Given the description of an element on the screen output the (x, y) to click on. 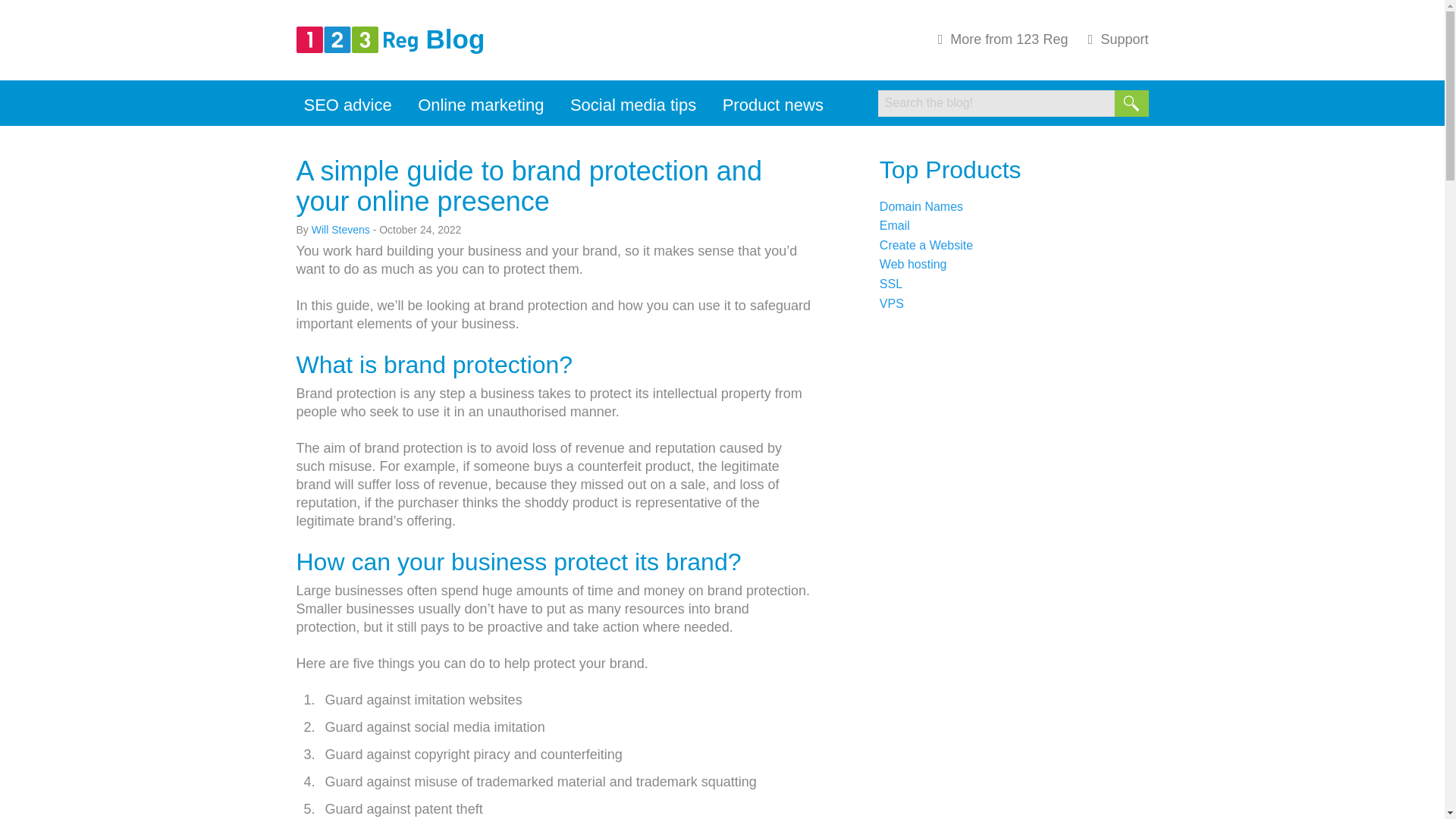
SEO advice (346, 104)
Logo image for 123 Reg (355, 39)
Guard against social media imitation (434, 726)
More from 123 Reg (999, 38)
Support (1114, 38)
Social media tips (632, 104)
Online marketing (480, 104)
Guard against copyright piracy and counterfeiting (472, 754)
Domain Names (920, 205)
Product news (773, 104)
Guard against patent theft (402, 808)
Will Stevens (340, 229)
Guard against imitation websites (422, 699)
